Given the description of an element on the screen output the (x, y) to click on. 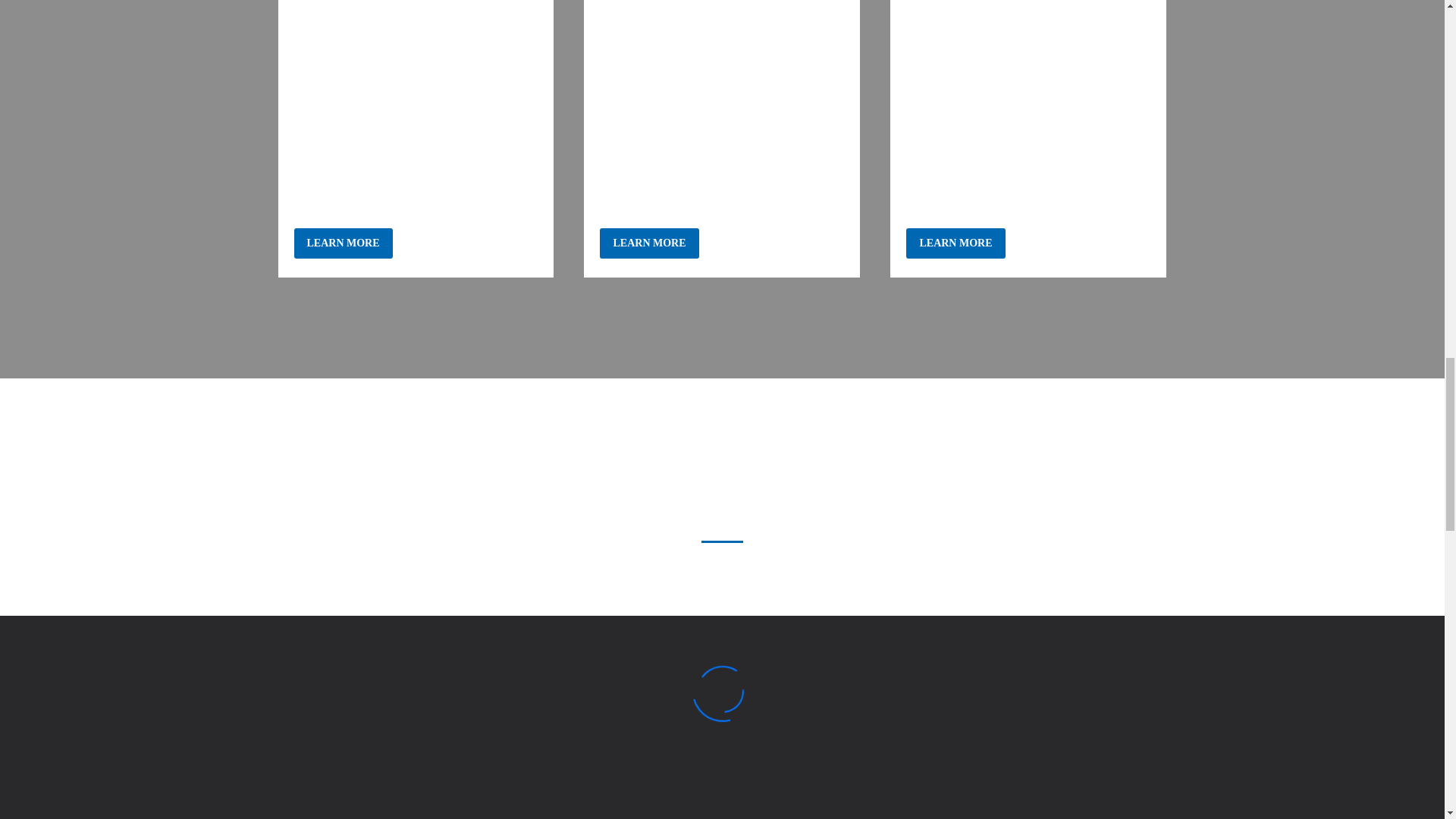
distribution (721, 58)
LEARN MORE (648, 243)
About Us (648, 243)
LEARN MORE (954, 243)
LEARN MORE (343, 243)
About Us (954, 243)
transmission (416, 58)
About Us (343, 243)
substation (1027, 58)
